Given the description of an element on the screen output the (x, y) to click on. 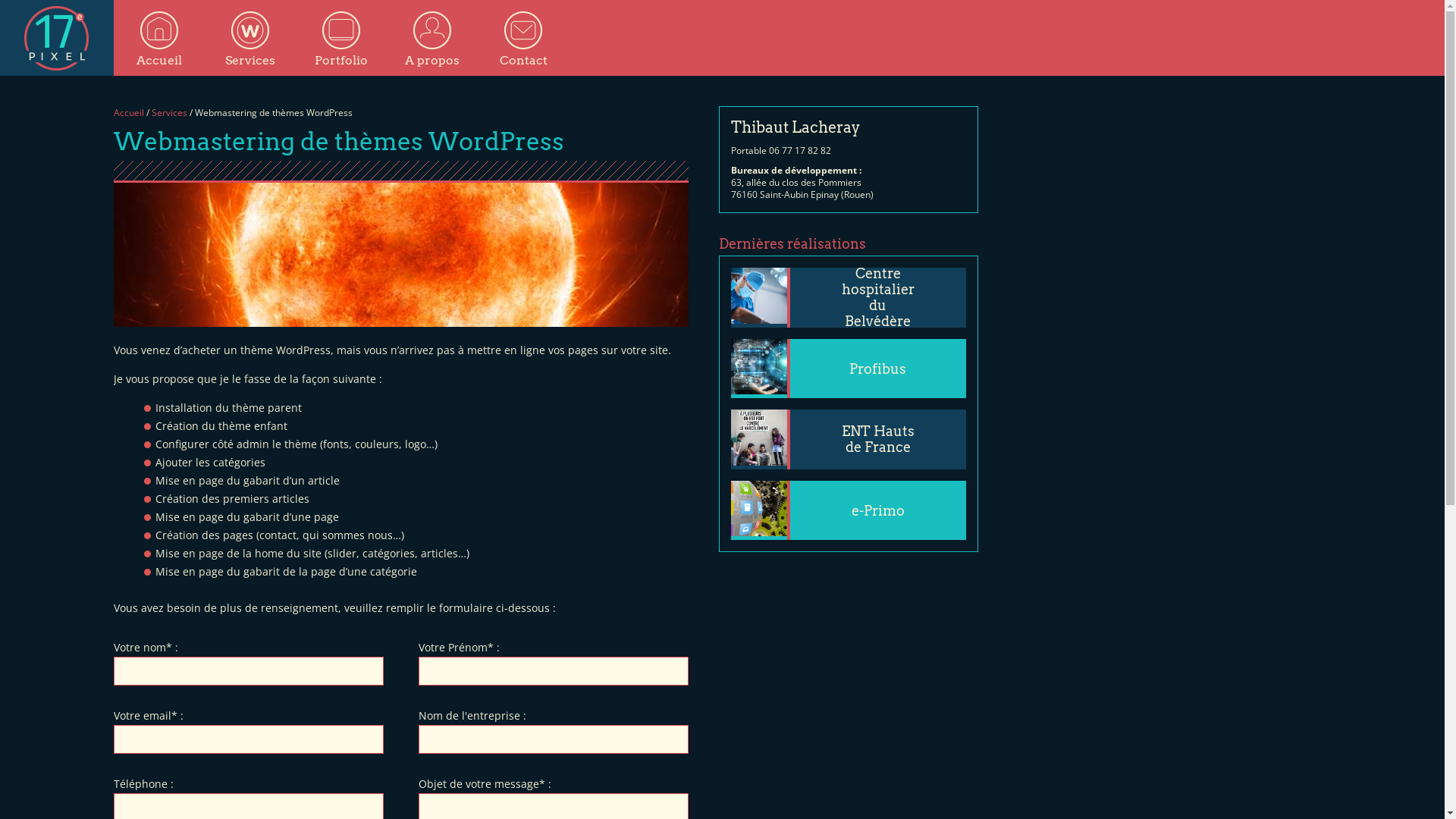
Accueil Element type: text (128, 112)
Services Element type: text (169, 112)
Services Element type: text (249, 37)
ENT Hauts de France Element type: text (848, 439)
Profibus Element type: text (848, 368)
e-Primo Element type: text (848, 510)
Accueil Element type: text (158, 37)
Portfolio Element type: text (340, 37)
17ePixel Element type: hover (56, 37)
Contact Element type: text (522, 37)
A propos Element type: text (431, 37)
